Given the description of an element on the screen output the (x, y) to click on. 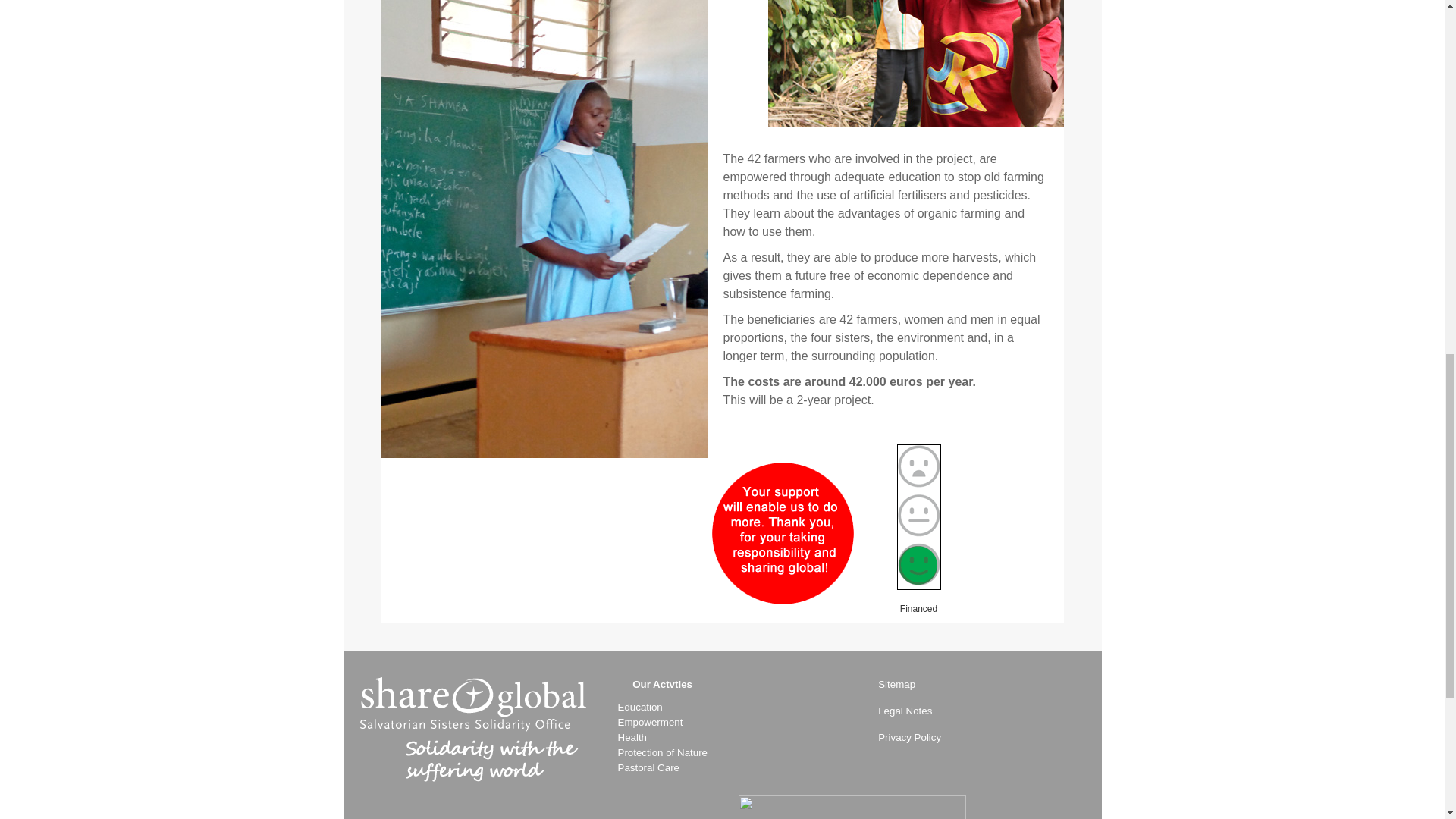
Education (639, 706)
Privacy Policy (901, 737)
Pastoral Care (648, 767)
Health (631, 737)
Sitemap (889, 693)
Empowerment (649, 722)
Legal Notes (897, 710)
Protection of Nature (662, 752)
